Given the description of an element on the screen output the (x, y) to click on. 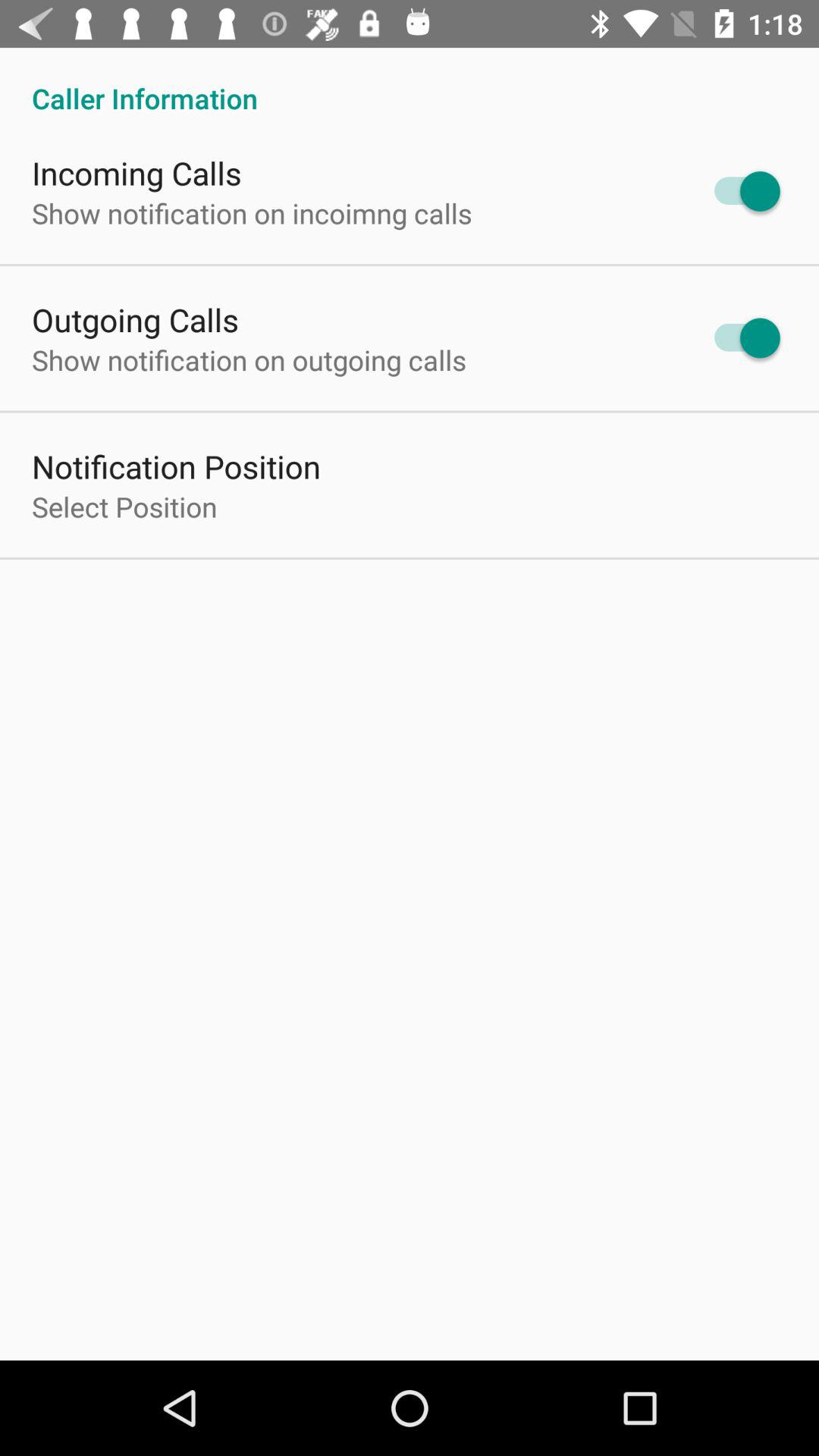
turn on select position (124, 506)
